Given the description of an element on the screen output the (x, y) to click on. 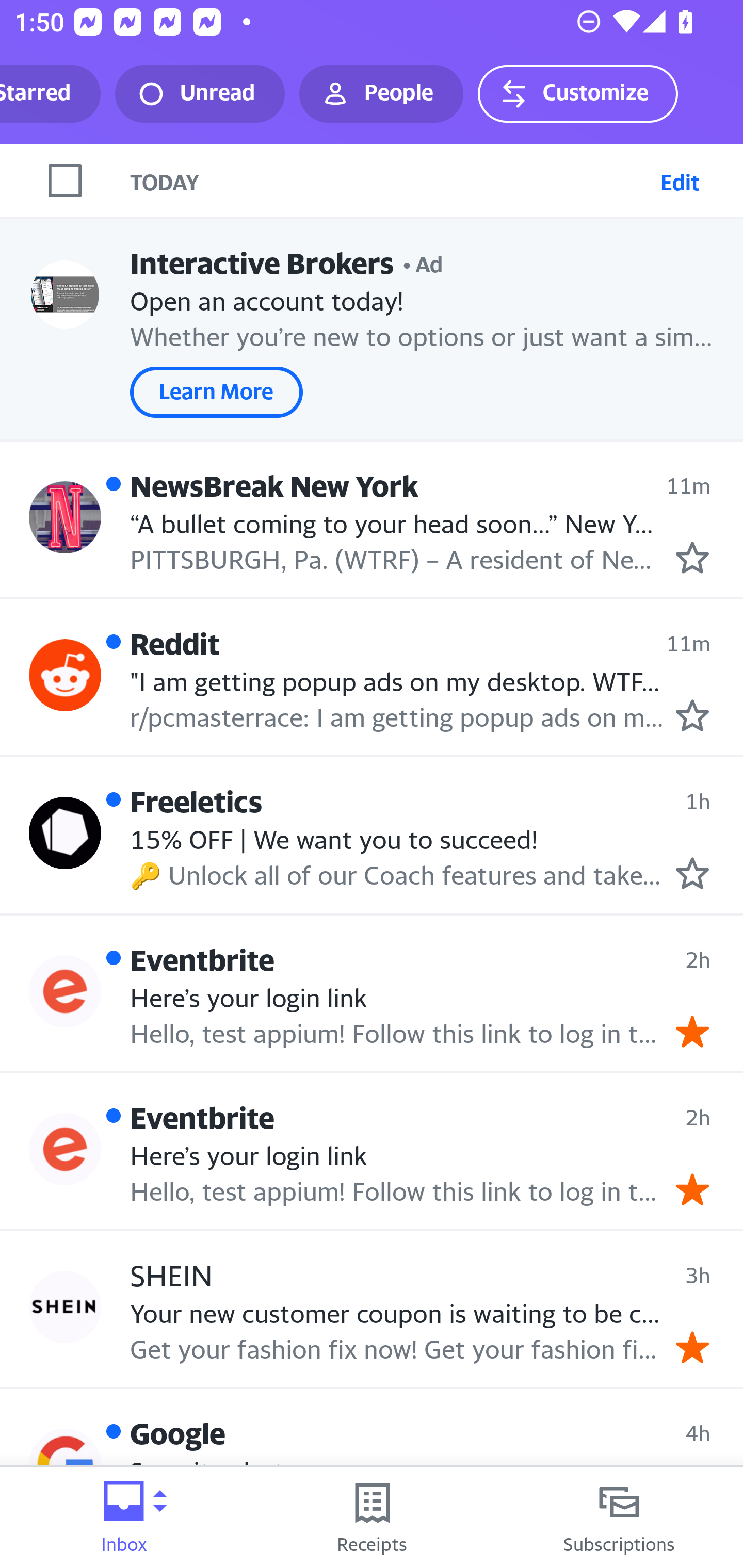
Unread (199, 93)
People (381, 93)
Customize (577, 93)
TODAY (391, 180)
Edit Select emails (679, 180)
Profile
NewsBreak New York (64, 517)
Mark as starred. (692, 557)
Profile
Reddit (64, 675)
Mark as starred. (692, 715)
Profile
Freeletics (64, 832)
Mark as starred. (692, 872)
Profile
Eventbrite (64, 990)
Remove star. (692, 1030)
Profile
Eventbrite (64, 1149)
Remove star. (692, 1189)
Profile
SHEIN (64, 1307)
Remove star. (692, 1347)
Inbox Folder picker (123, 1517)
Receipts (371, 1517)
Subscriptions (619, 1517)
